Given the description of an element on the screen output the (x, y) to click on. 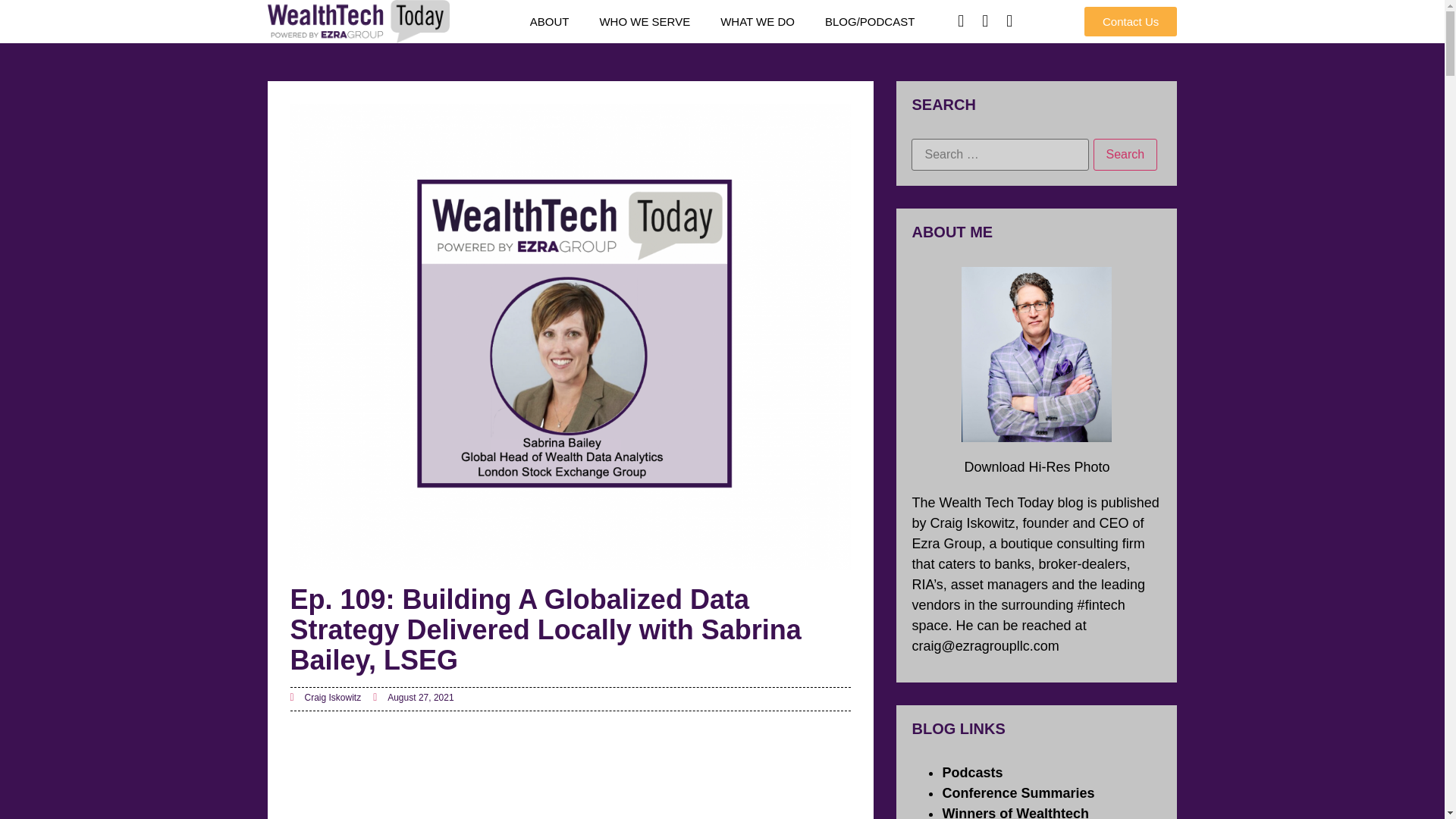
Search (1125, 154)
WHO WE SERVE (643, 20)
Blubrry Podcast Player (569, 781)
ABOUT (550, 20)
WHAT WE DO (756, 20)
Search (1125, 154)
